Given the description of an element on the screen output the (x, y) to click on. 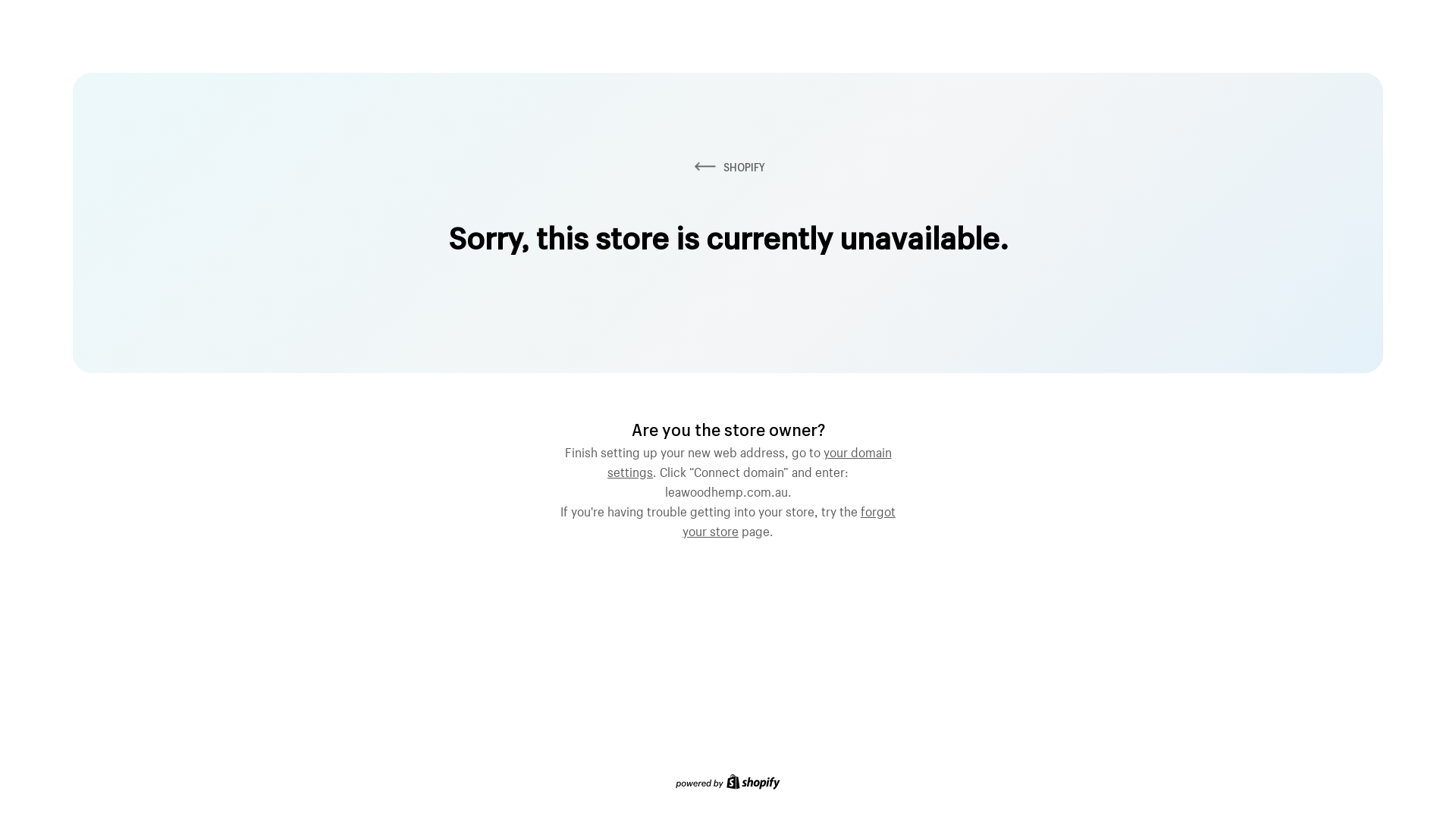
forgot your store Element type: text (788, 519)
your domain settings Element type: text (749, 460)
SHOPIFY Element type: text (727, 167)
